Given the description of an element on the screen output the (x, y) to click on. 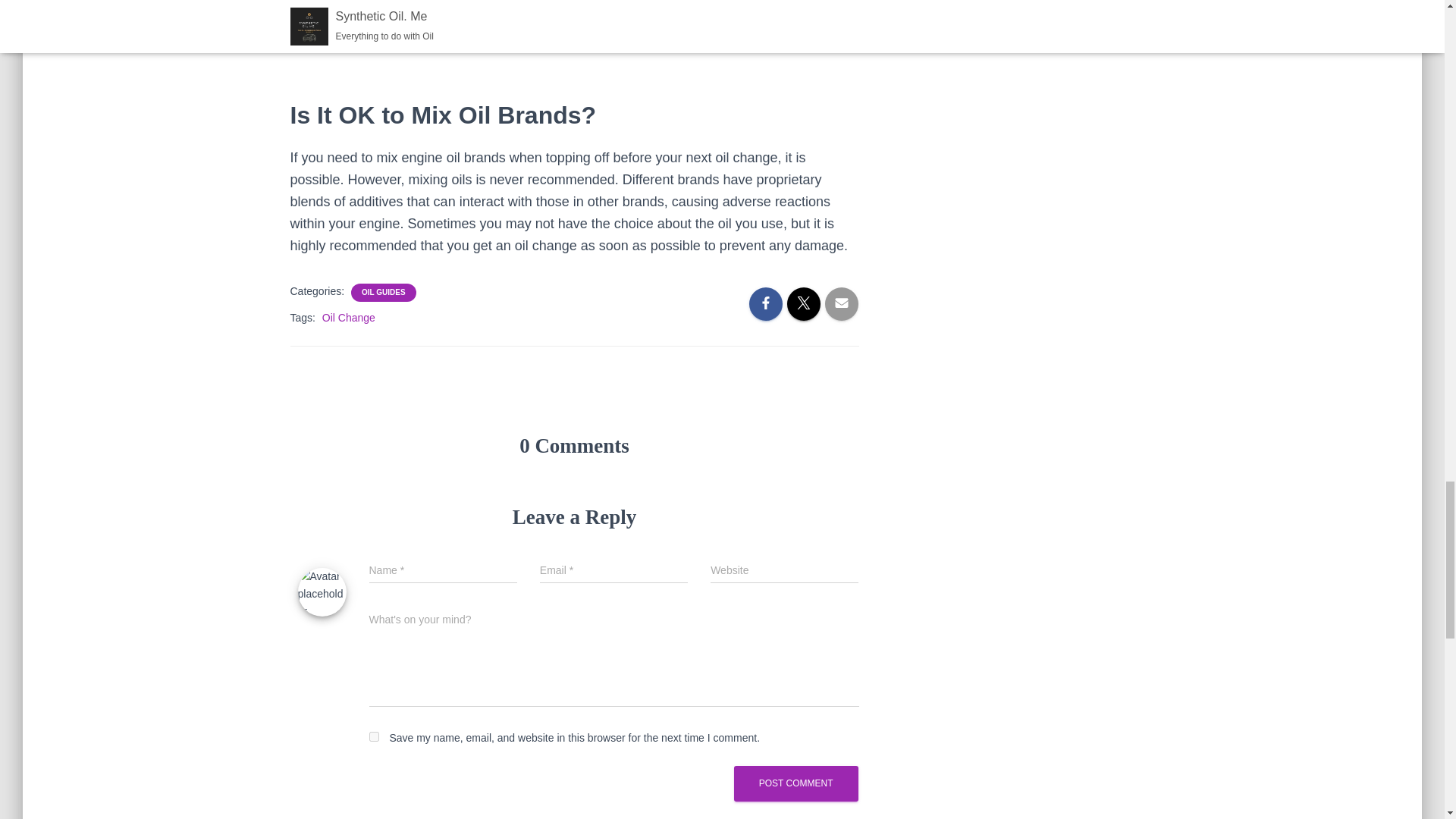
yes (373, 737)
Post Comment (796, 783)
OIL GUIDES (383, 292)
Oil Change (348, 317)
Post Comment (796, 783)
